Given the description of an element on the screen output the (x, y) to click on. 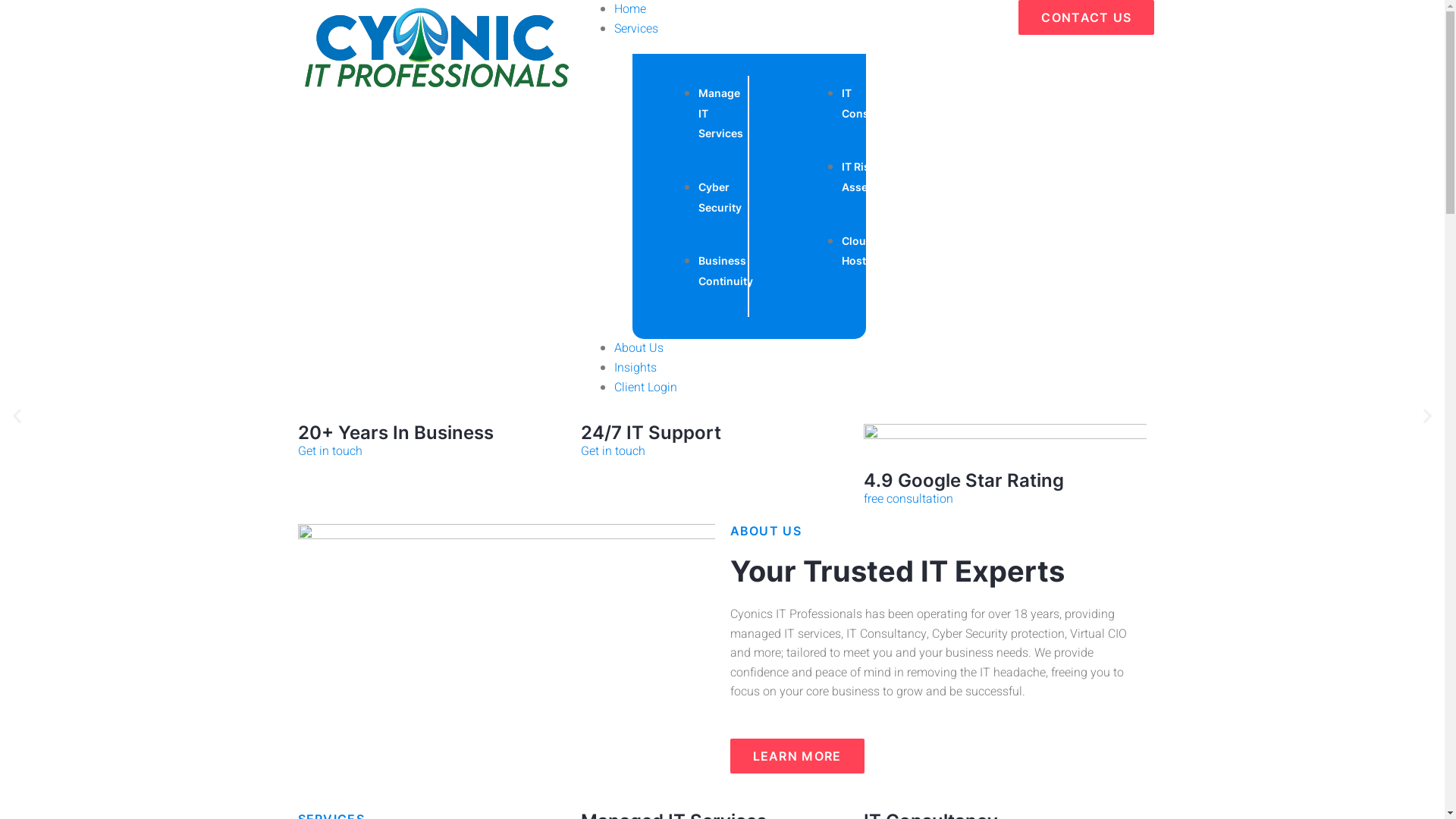
Cloud & Hosting Element type: text (861, 250)
Business Continuity Element type: text (725, 270)
LEARN MORE Element type: text (796, 755)
free consultation Element type: text (908, 498)
Manage IT Services Element type: text (720, 112)
Home Element type: text (630, 9)
About Us Element type: text (638, 347)
Cyber Security Element type: text (719, 196)
IT Risk Assessment Element type: text (873, 176)
Services Element type: text (636, 28)
Get in touch Element type: text (329, 451)
Insights Element type: text (635, 367)
CONTACT US Element type: text (1086, 17)
Client Login Element type: text (645, 387)
IT Consulting Element type: text (870, 102)
Get in touch Element type: text (612, 451)
